Given the description of an element on the screen output the (x, y) to click on. 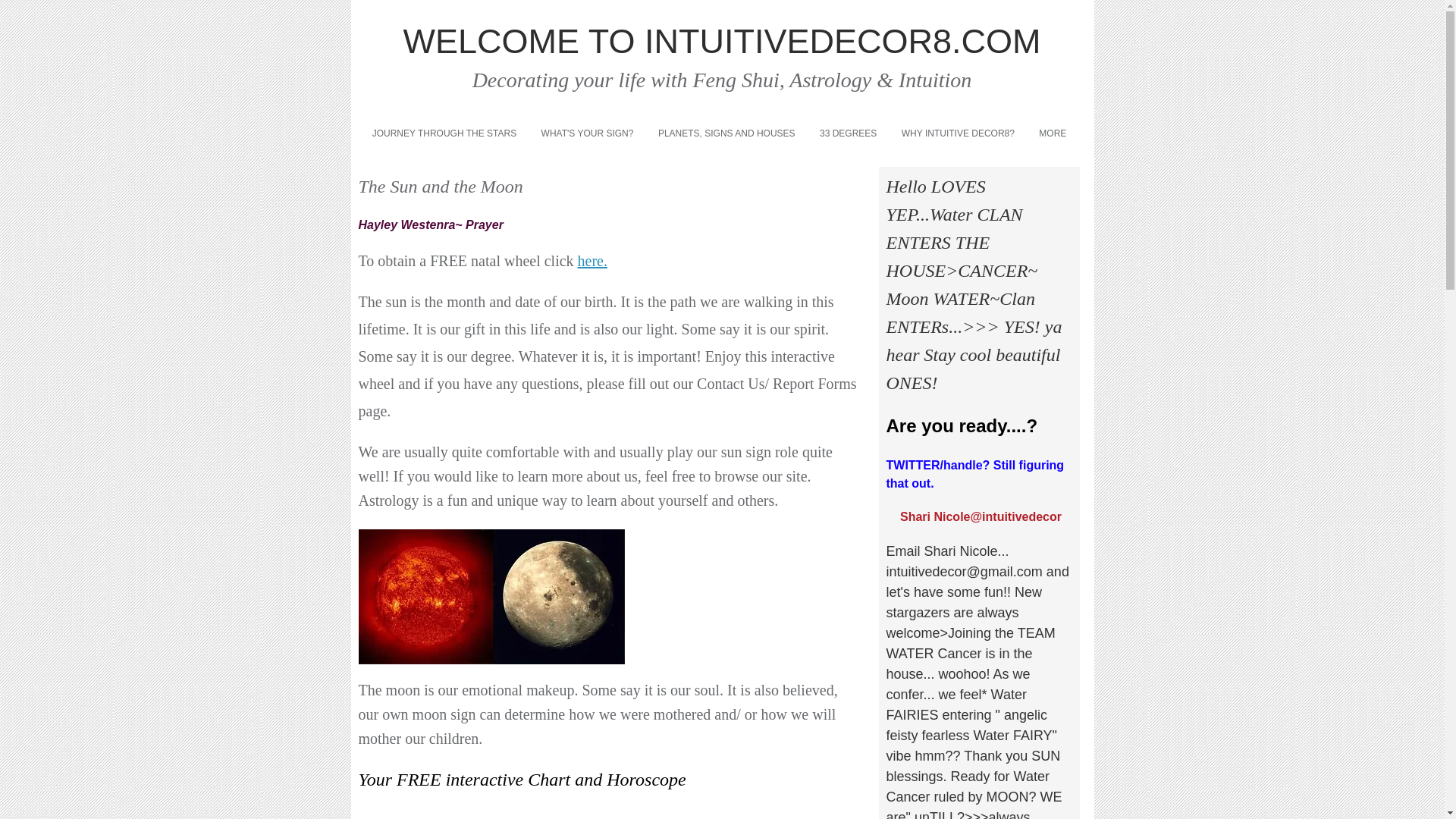
PLANETS, SIGNS AND HOUSES (727, 133)
WHAT'S YOUR SIGN? (586, 133)
JOURNEY THROUGH THE STARS (443, 133)
WHY INTUITIVE DECOR8? (958, 133)
here. (592, 263)
33 DEGREES (848, 133)
